Given the description of an element on the screen output the (x, y) to click on. 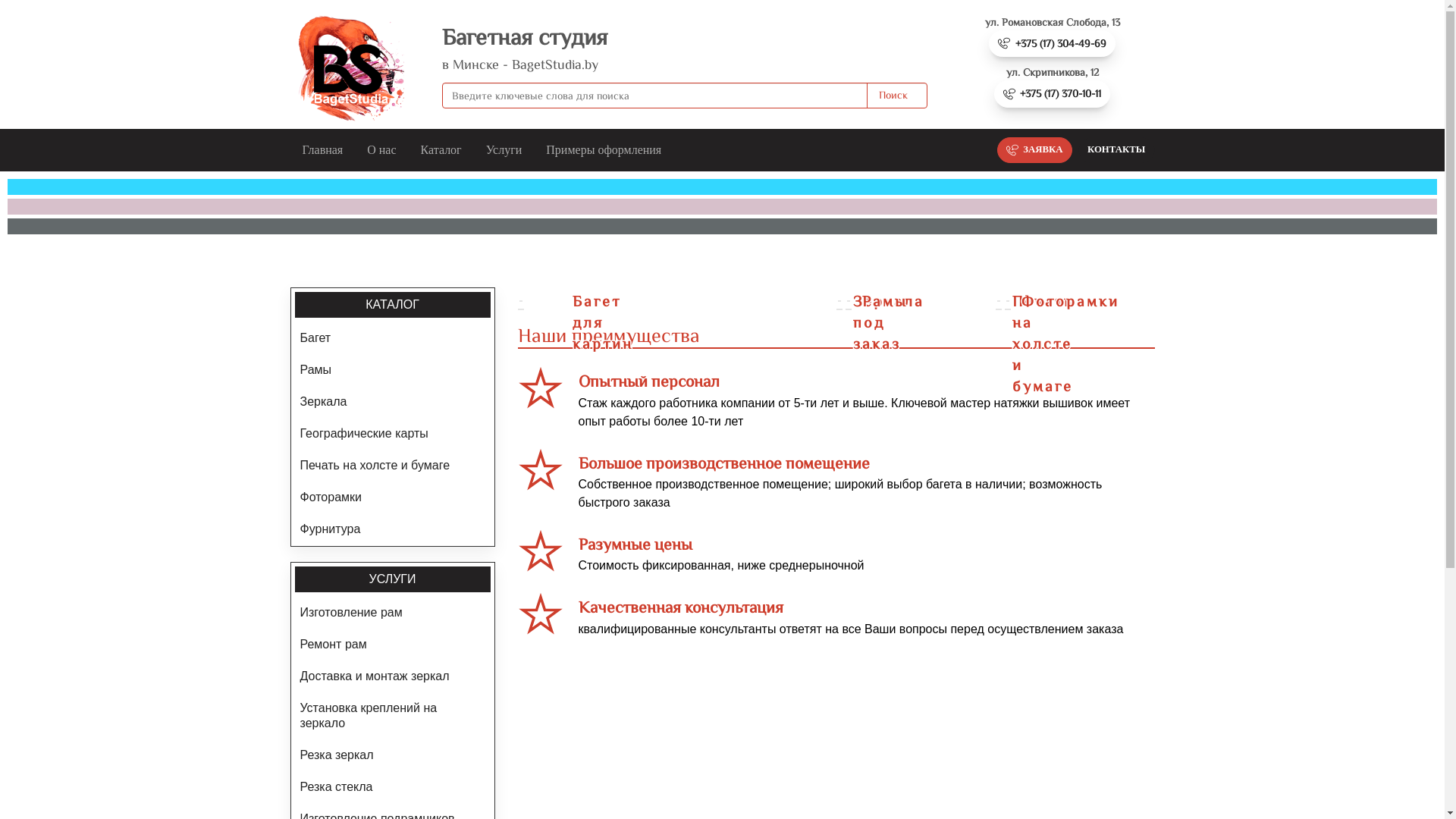
+375 (17) 304-49-69 Element type: text (1051, 43)
+375 (17) 370-10-11 Element type: text (1052, 93)
